Given the description of an element on the screen output the (x, y) to click on. 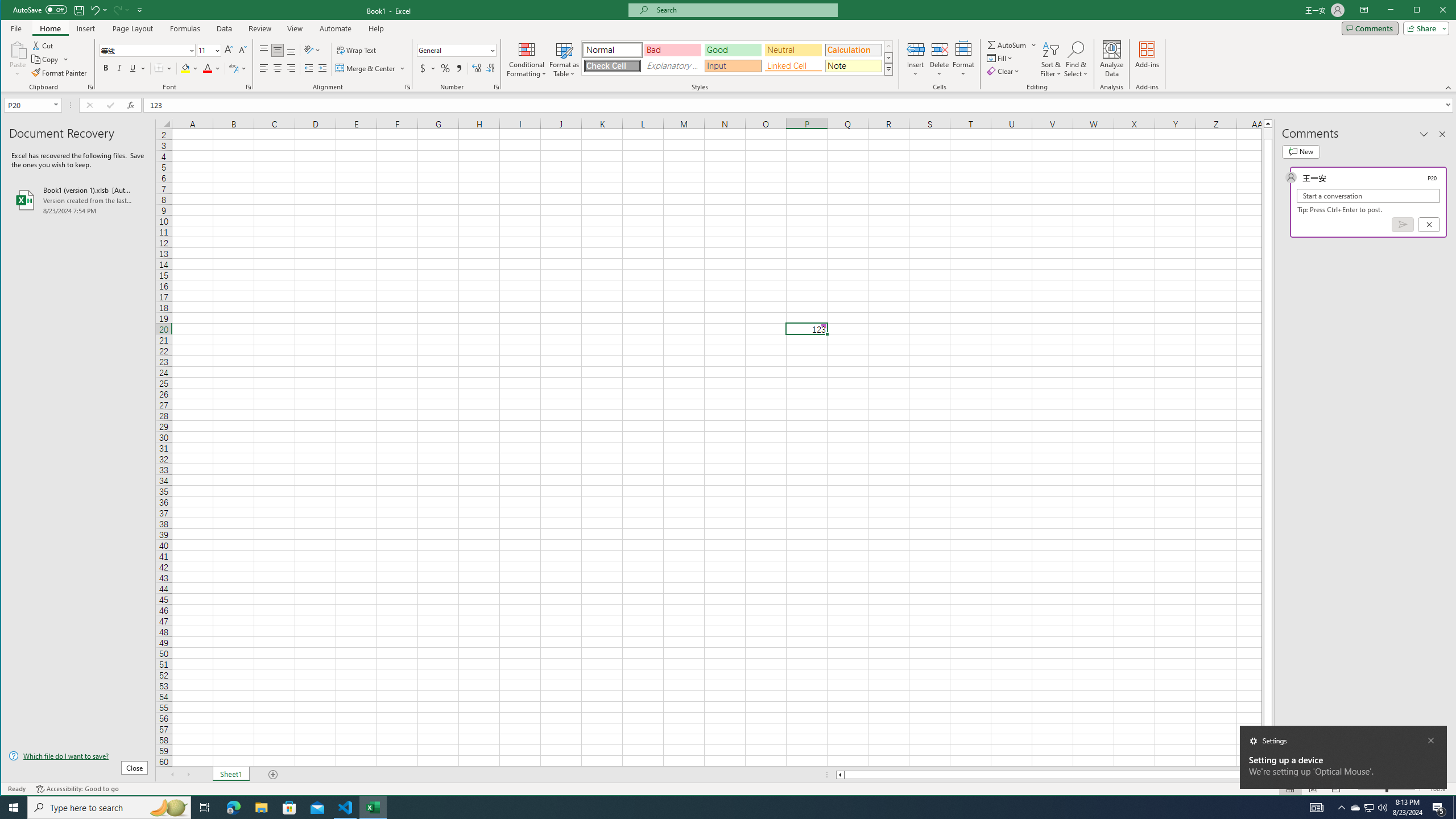
Equation (884, 59)
Microsoft Store (289, 807)
Recommended PivotTables (63, 59)
Minimize (1419, 11)
3D Models (1368, 807)
Line (211, 59)
Slicer... (514, 59)
Shapes (598, 59)
Close pane (159, 59)
Data (1441, 133)
Insert Line or Area Chart (224, 28)
File Explorer (350, 57)
